Given the description of an element on the screen output the (x, y) to click on. 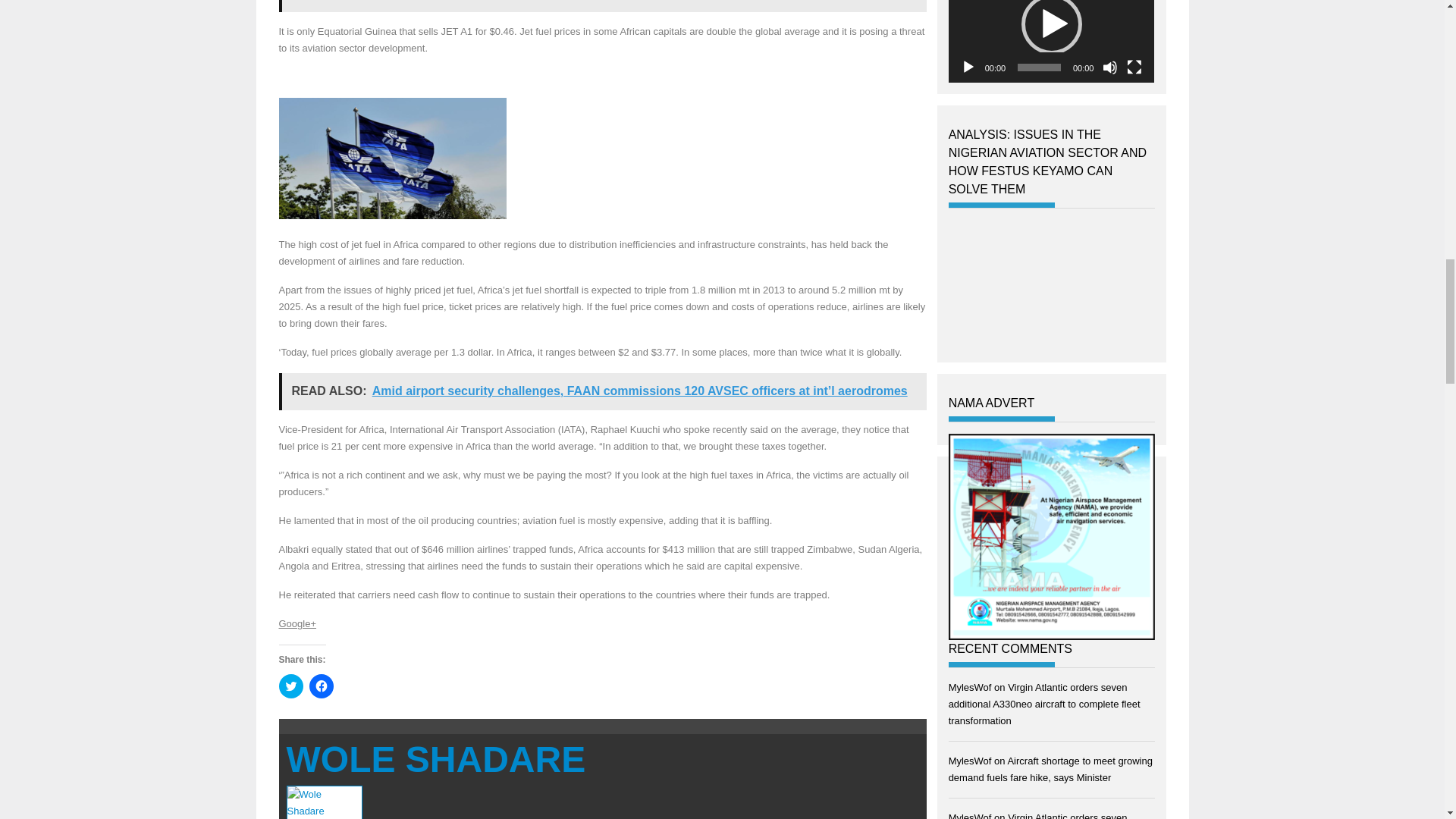
Click to share on Twitter (290, 686)
Play (967, 67)
Mute (1110, 67)
Wole Shadare (436, 759)
Click to share on Facebook (320, 686)
Fullscreen (1133, 67)
